Given the description of an element on the screen output the (x, y) to click on. 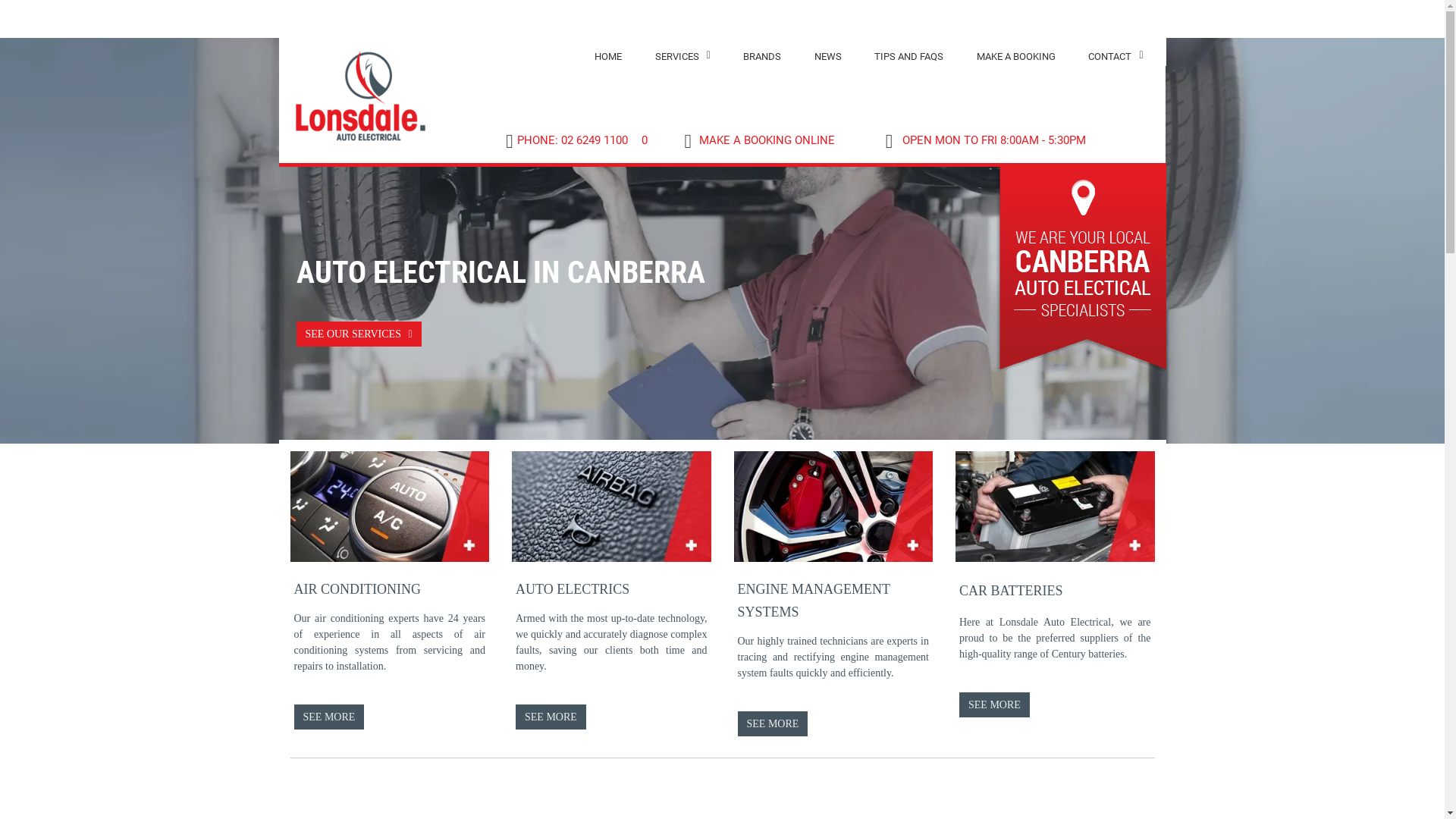
SERVICES Element type: text (682, 55)
BRANDS Element type: text (762, 55)
Engine management system repairs Element type: hover (833, 506)
Lonsdale Auto Electrical logo Element type: hover (360, 95)
NEWS Element type: text (827, 55)
TIPS AND FAQS Element type: text (908, 55)
MAKE A BOOKING Element type: text (1015, 55)
We are your local Canberra specialists Element type: hover (1078, 270)
Air Conditioning Element type: hover (389, 506)
HOME Element type: text (607, 55)
SEE MORE Element type: text (329, 716)
SEE MORE Element type: text (994, 704)
MAKE A BOOKING ONLINE Element type: text (758, 139)
SEE MORE Element type: text (772, 723)
Auto electrics Element type: hover (611, 506)
PHONE: 02 6249 1100 02 6249 1100 Element type: text (569, 139)
OPEN MON TO FRI 8:00AM - 5:30PM Element type: text (982, 139)
CONTACT Element type: text (1115, 55)
Replacement parts Element type: hover (1054, 506)
SEE MORE Element type: text (550, 716)
